Given the description of an element on the screen output the (x, y) to click on. 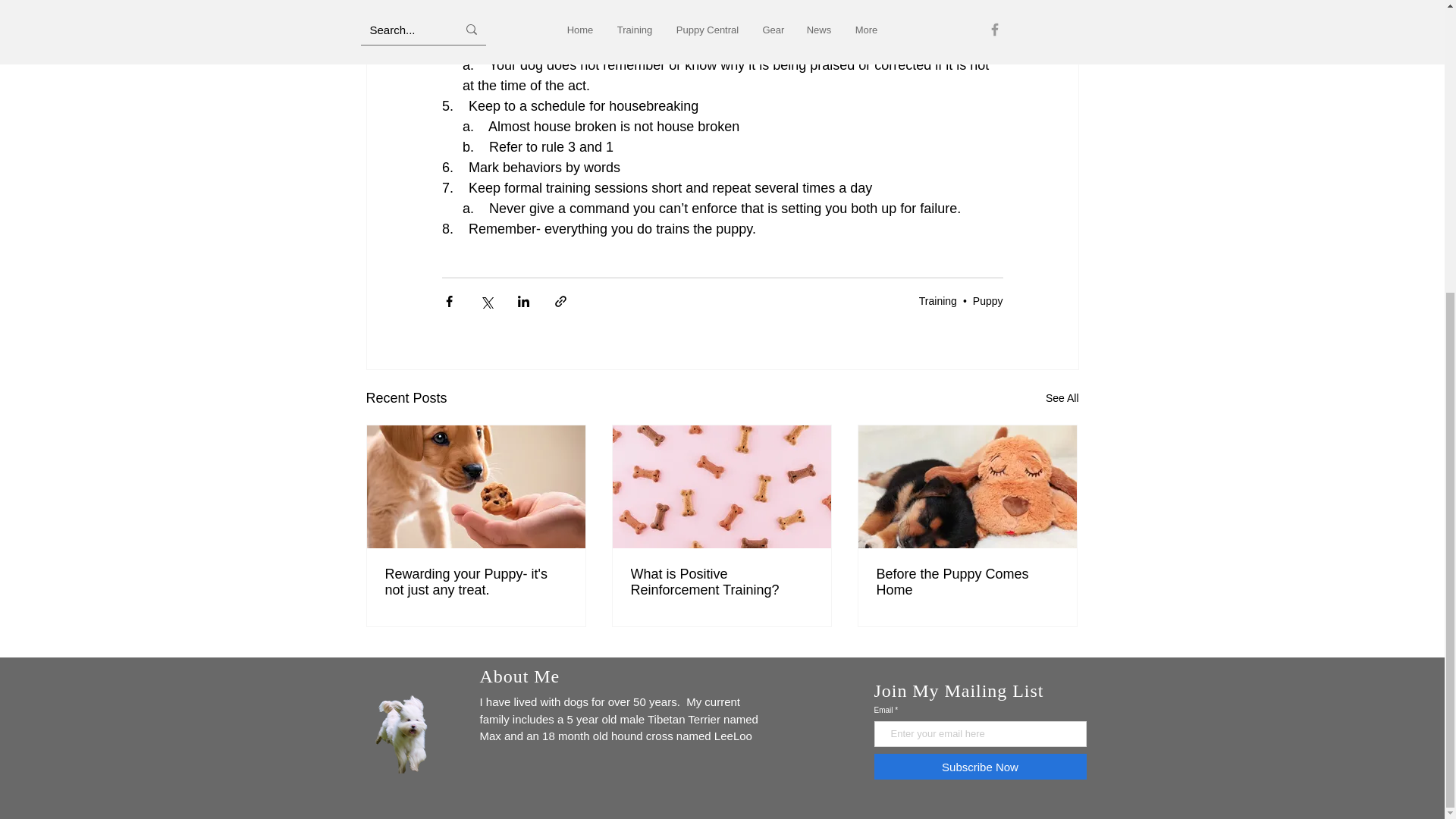
See All (1061, 398)
Before the Puppy Comes Home (967, 582)
What is Positive Reinforcement Training? (721, 582)
Puppy (987, 300)
Training (937, 300)
Subscribe Now (979, 766)
Rewarding your Puppy- it's not just any treat. (476, 582)
